Given the description of an element on the screen output the (x, y) to click on. 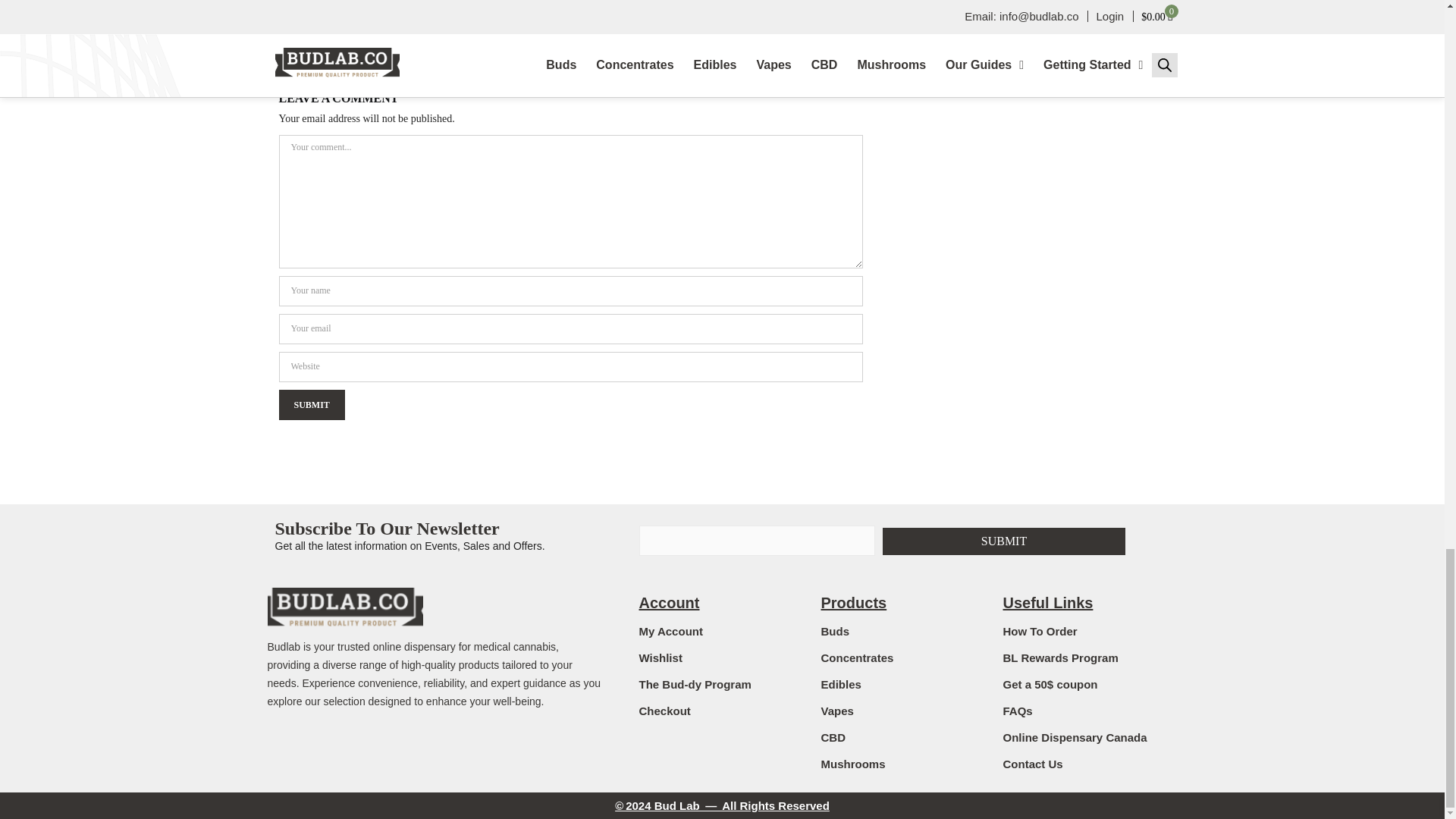
Submit (312, 404)
Submit (1003, 541)
Bud Lab Logo PNG (338, 605)
